Given the description of an element on the screen output the (x, y) to click on. 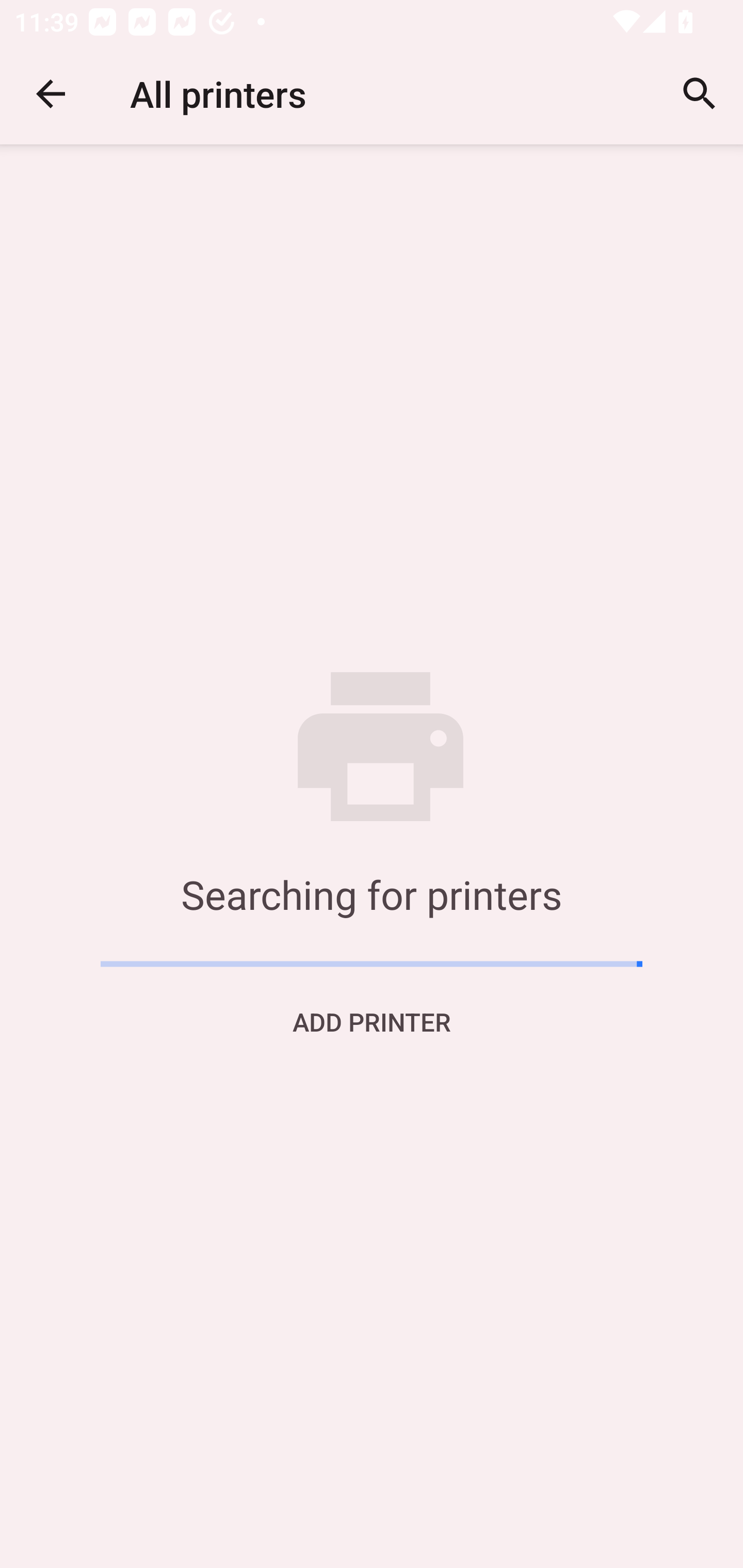
Navigate up (50, 93)
Search (699, 93)
ADD PRINTER (371, 1021)
